Given the description of an element on the screen output the (x, y) to click on. 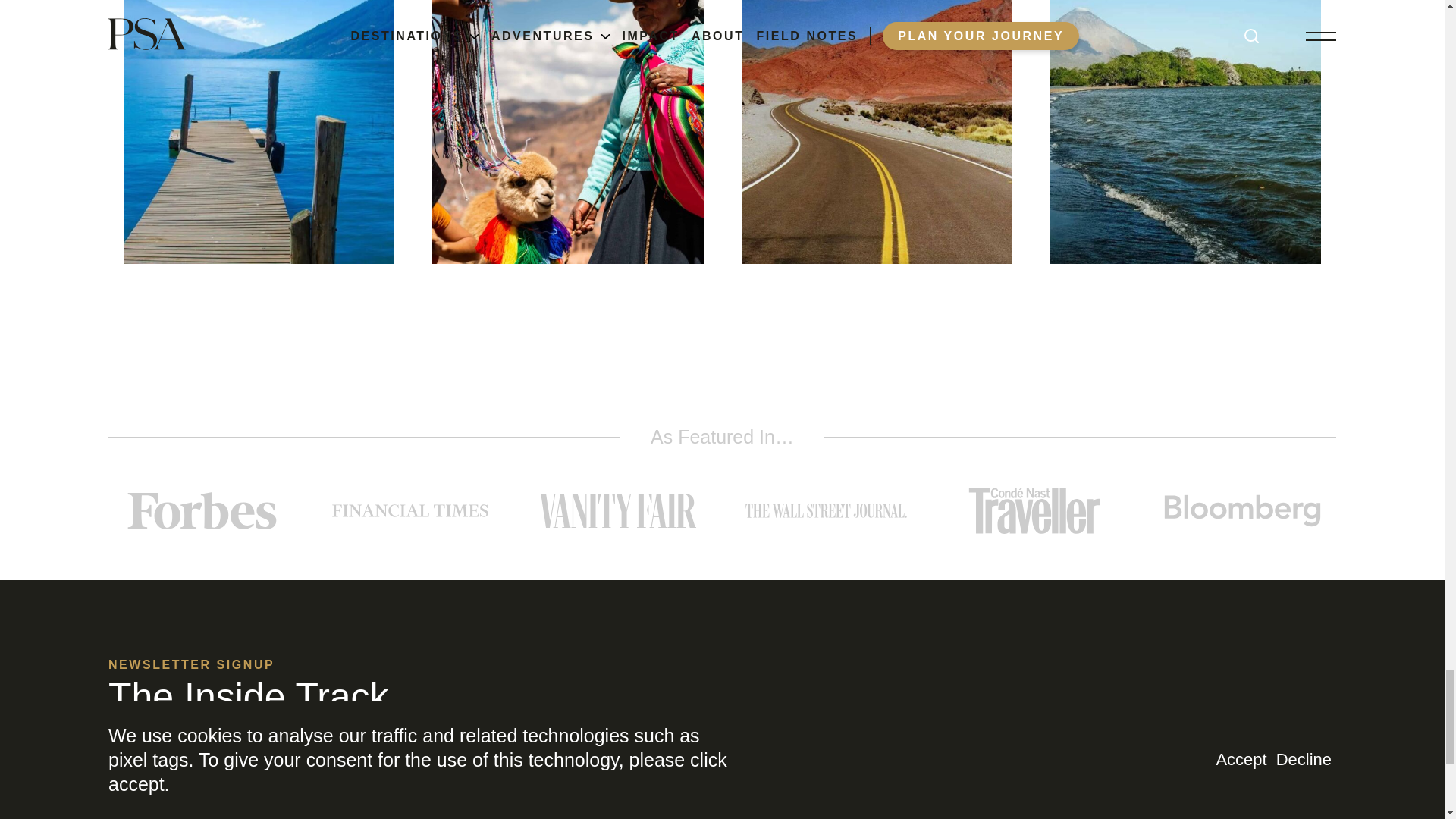
1 (119, 808)
